Given the description of an element on the screen output the (x, y) to click on. 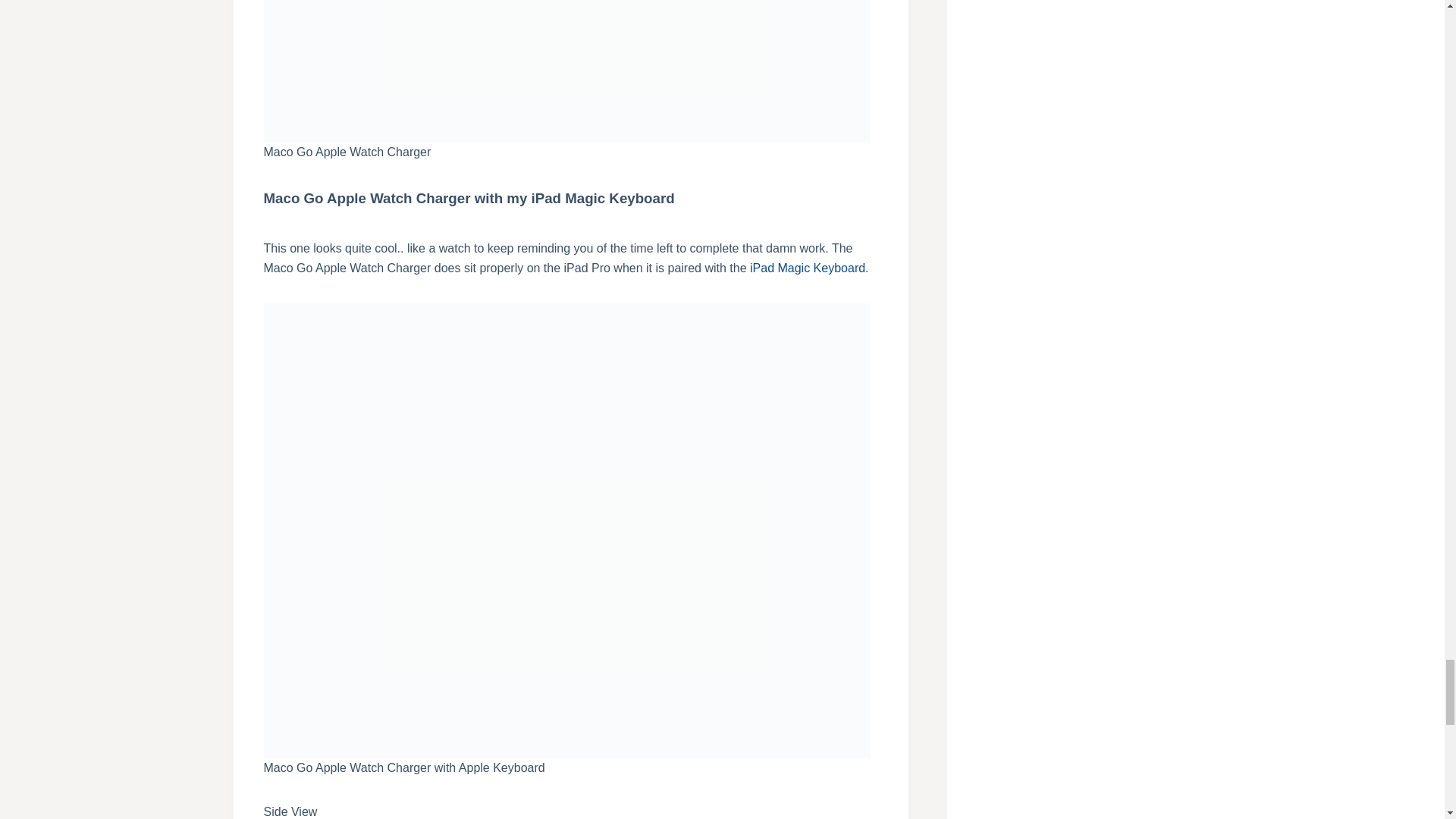
iPad Magic Keyboard (806, 267)
Maco Go Apple Watch Charger 12 (566, 71)
